Given the description of an element on the screen output the (x, y) to click on. 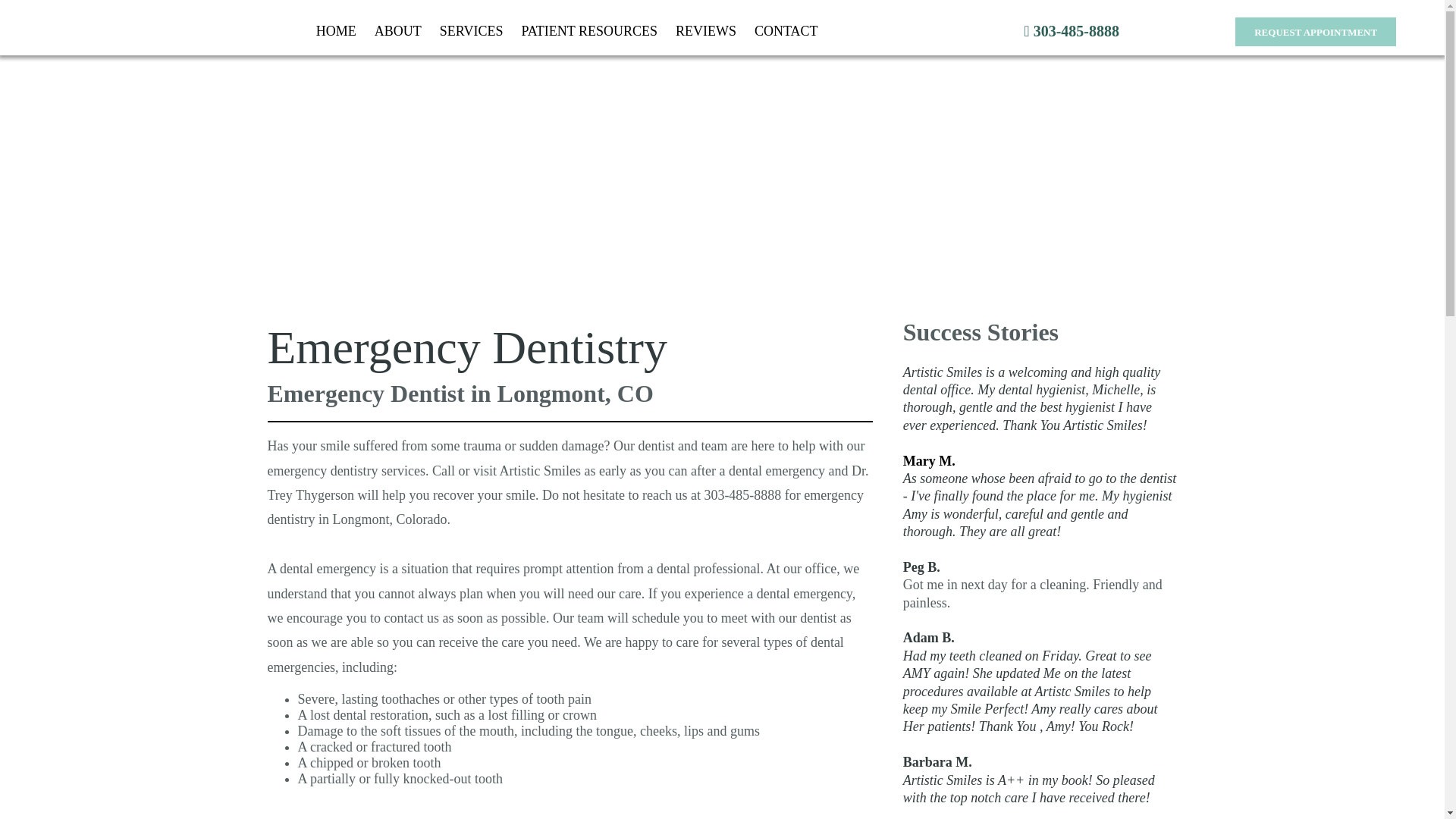
SERVICES (471, 31)
HOME (336, 31)
ABOUT (397, 31)
PATIENT RESOURCES (589, 31)
